Given the description of an element on the screen output the (x, y) to click on. 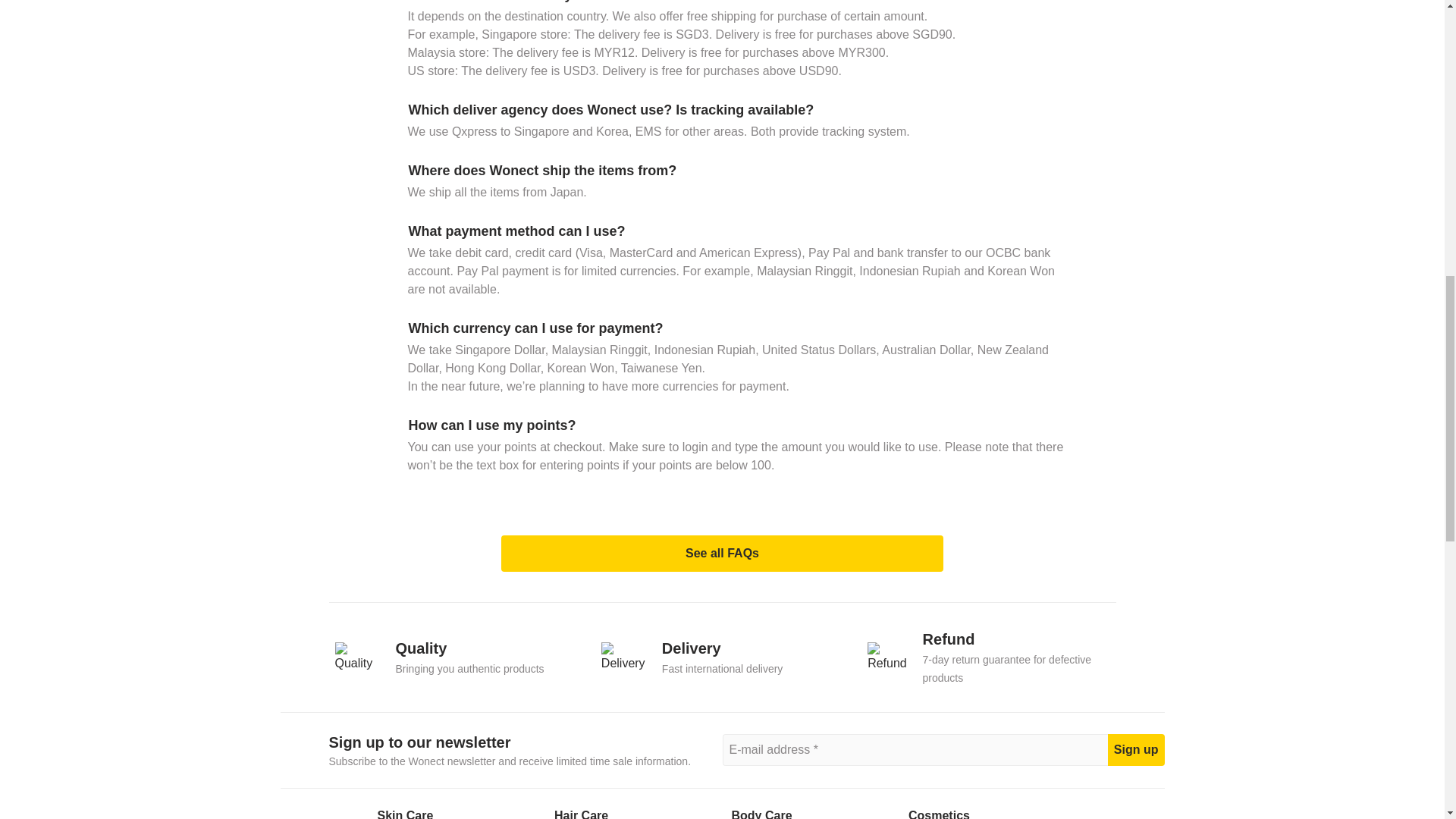
See all FAQs (456, 655)
Sign up (721, 655)
